Given the description of an element on the screen output the (x, y) to click on. 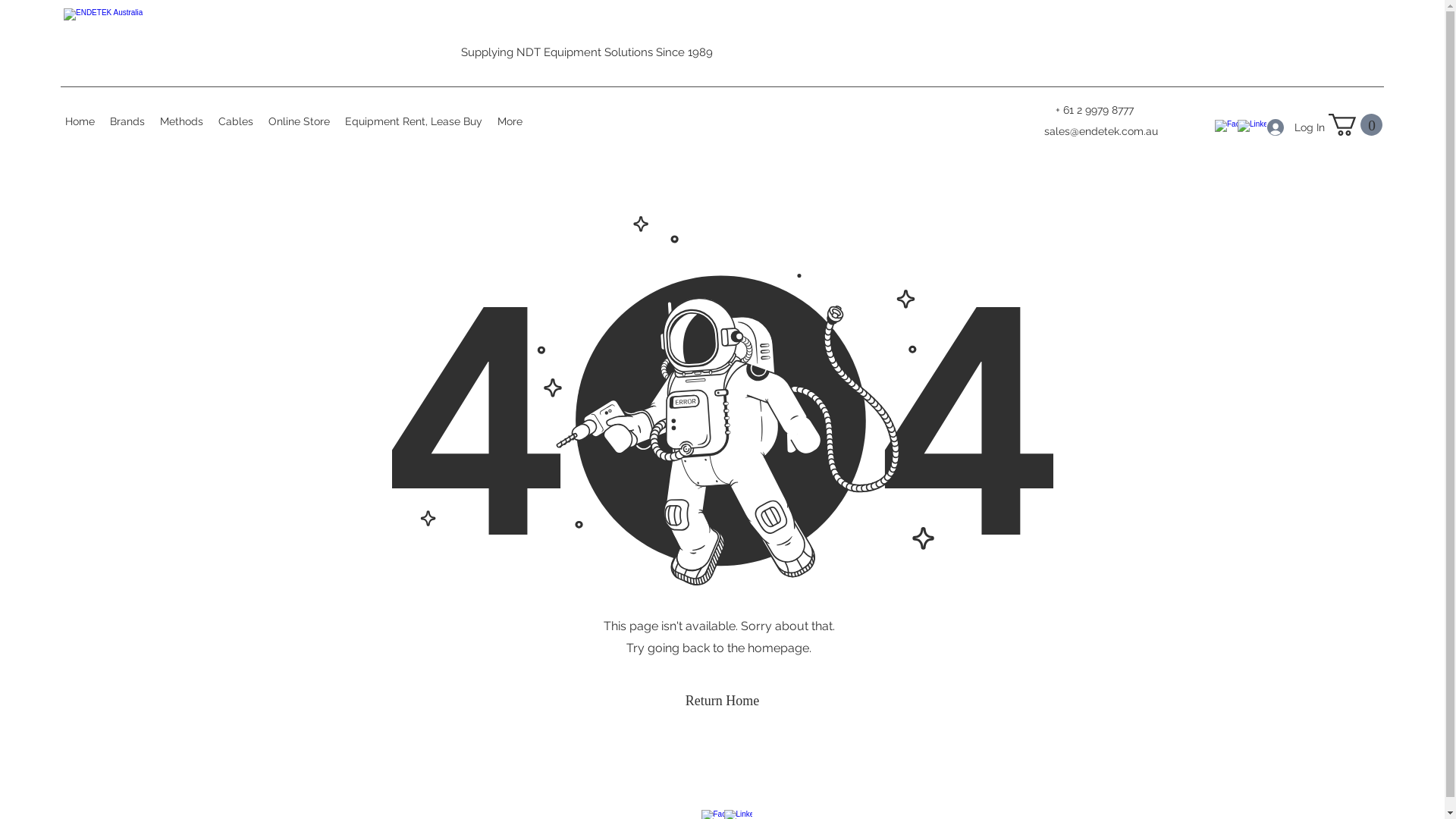
Equipment Rent, Lease Buy Element type: text (413, 120)
0 Element type: text (1355, 124)
Cables Element type: text (235, 120)
Online Store Element type: text (298, 120)
Log In Element type: text (1286, 127)
Return Home Element type: text (721, 701)
Home Element type: text (79, 120)
sales@endetek.com.au Element type: text (1100, 131)
